Given the description of an element on the screen output the (x, y) to click on. 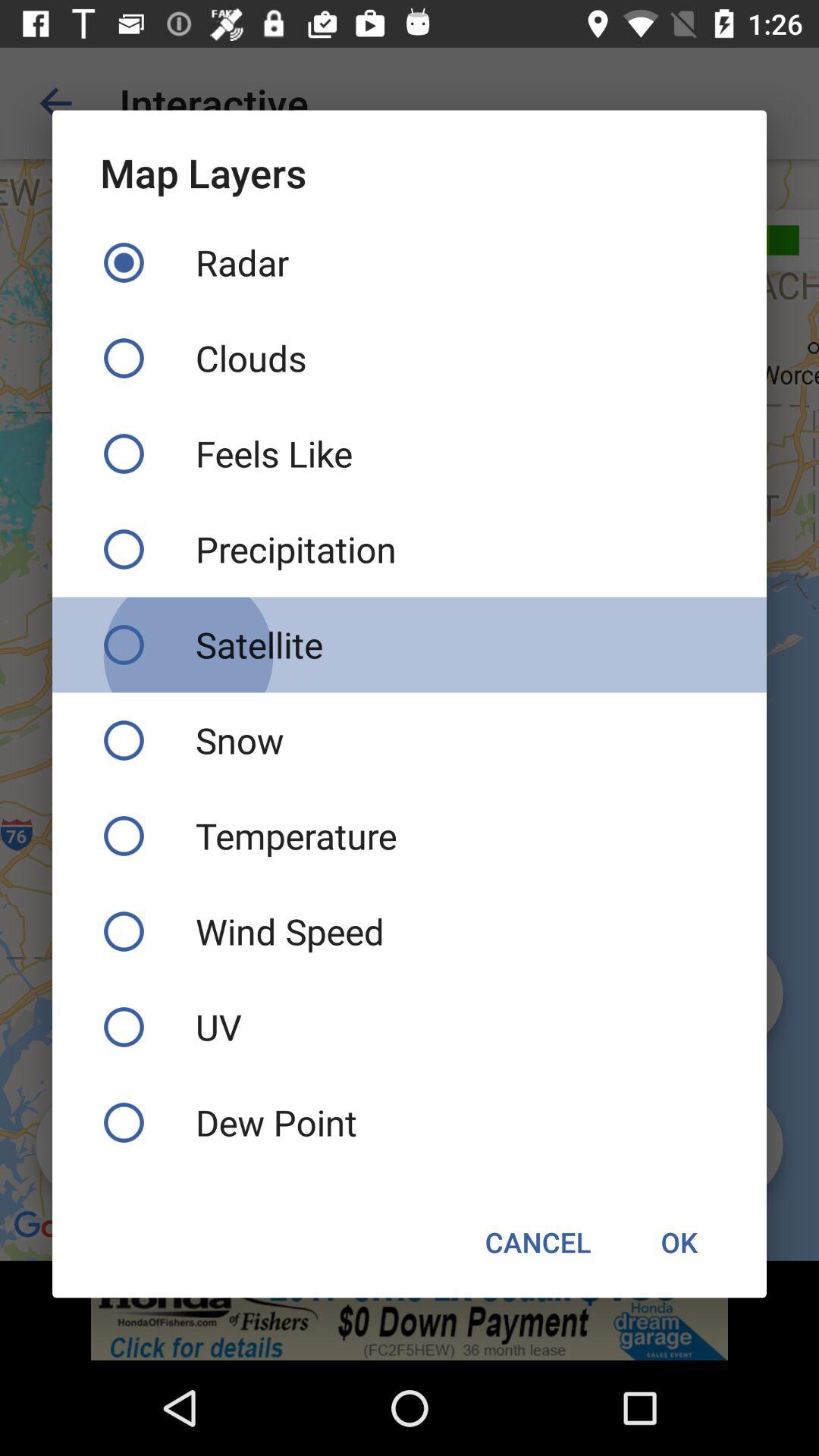
turn off icon below the dew point icon (678, 1241)
